Given the description of an element on the screen output the (x, y) to click on. 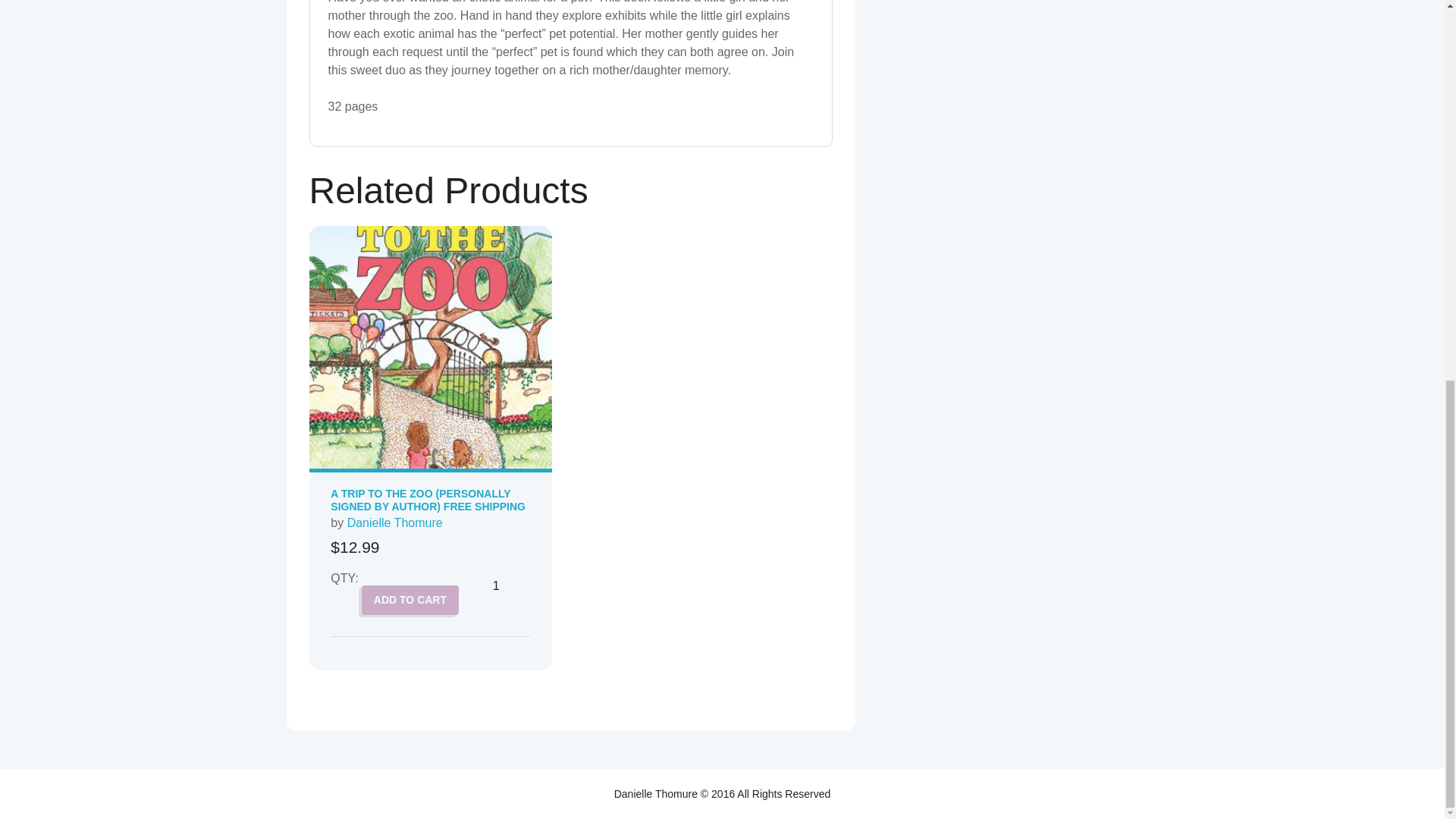
cover-big (429, 347)
ADD TO CART (409, 600)
Qty (502, 586)
Danielle Thomure (394, 522)
1 (502, 586)
